Given the description of an element on the screen output the (x, y) to click on. 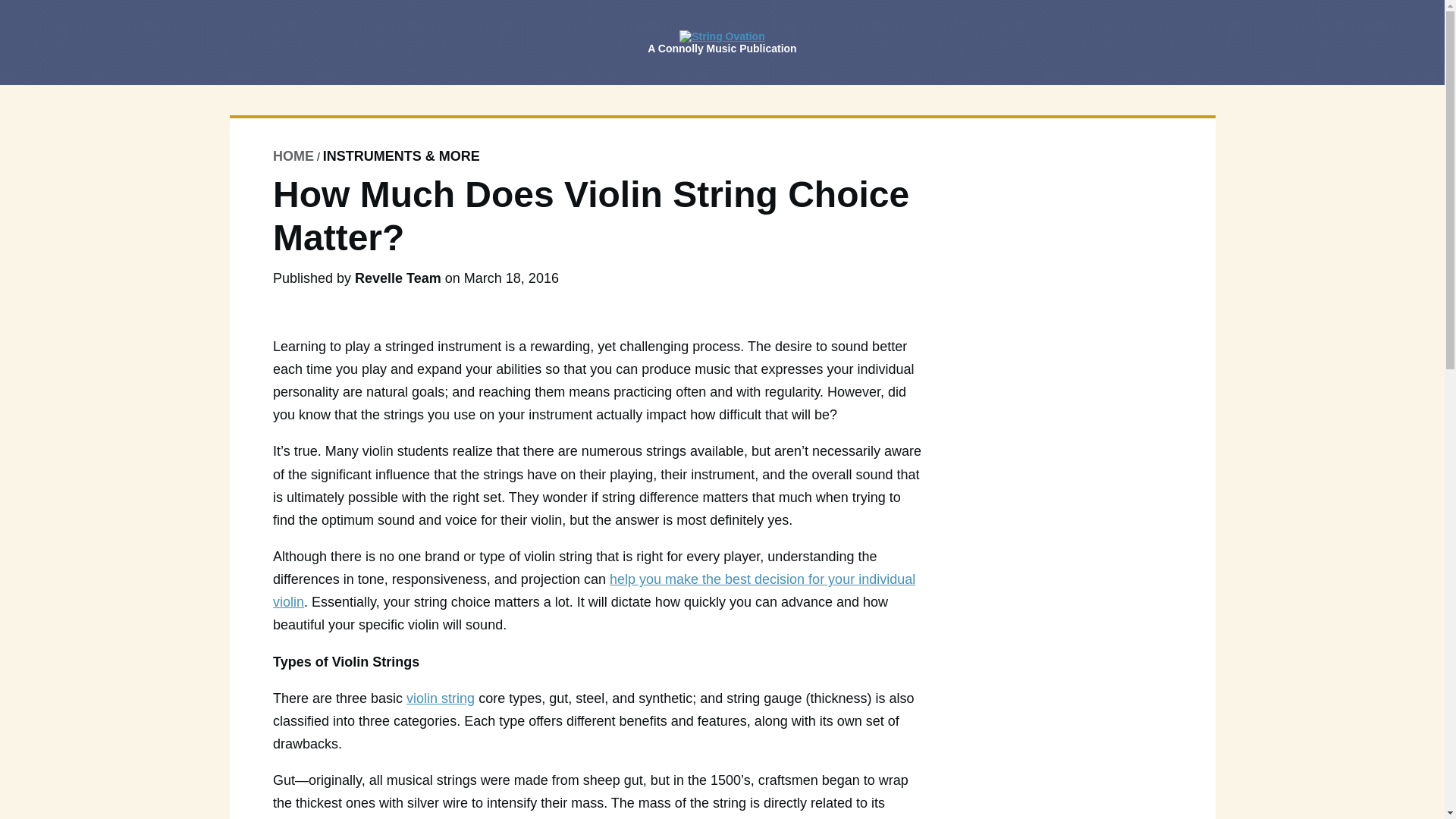
String Ovation (721, 36)
help you make the best decision for your individual violin (594, 590)
HOME (293, 156)
violin string (440, 698)
